Given the description of an element on the screen output the (x, y) to click on. 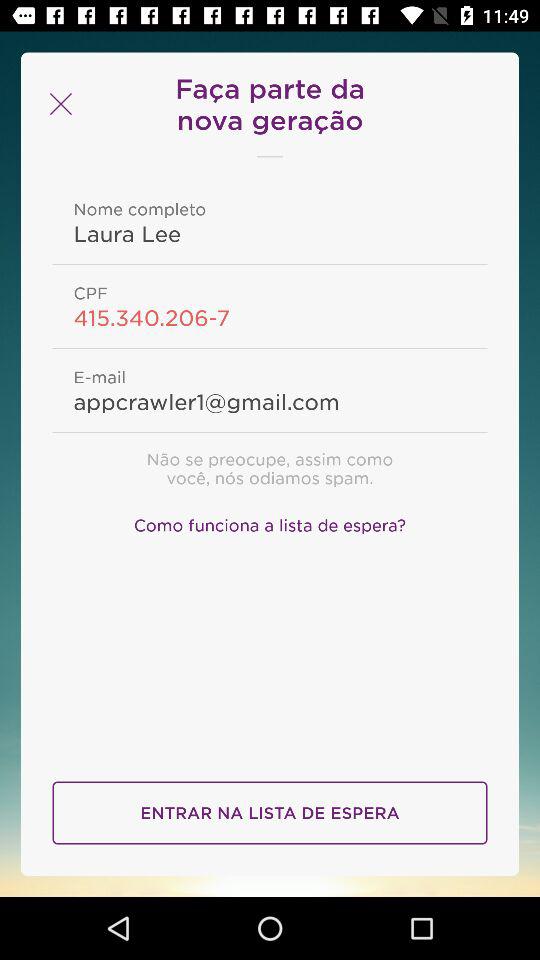
close page (58, 103)
